Given the description of an element on the screen output the (x, y) to click on. 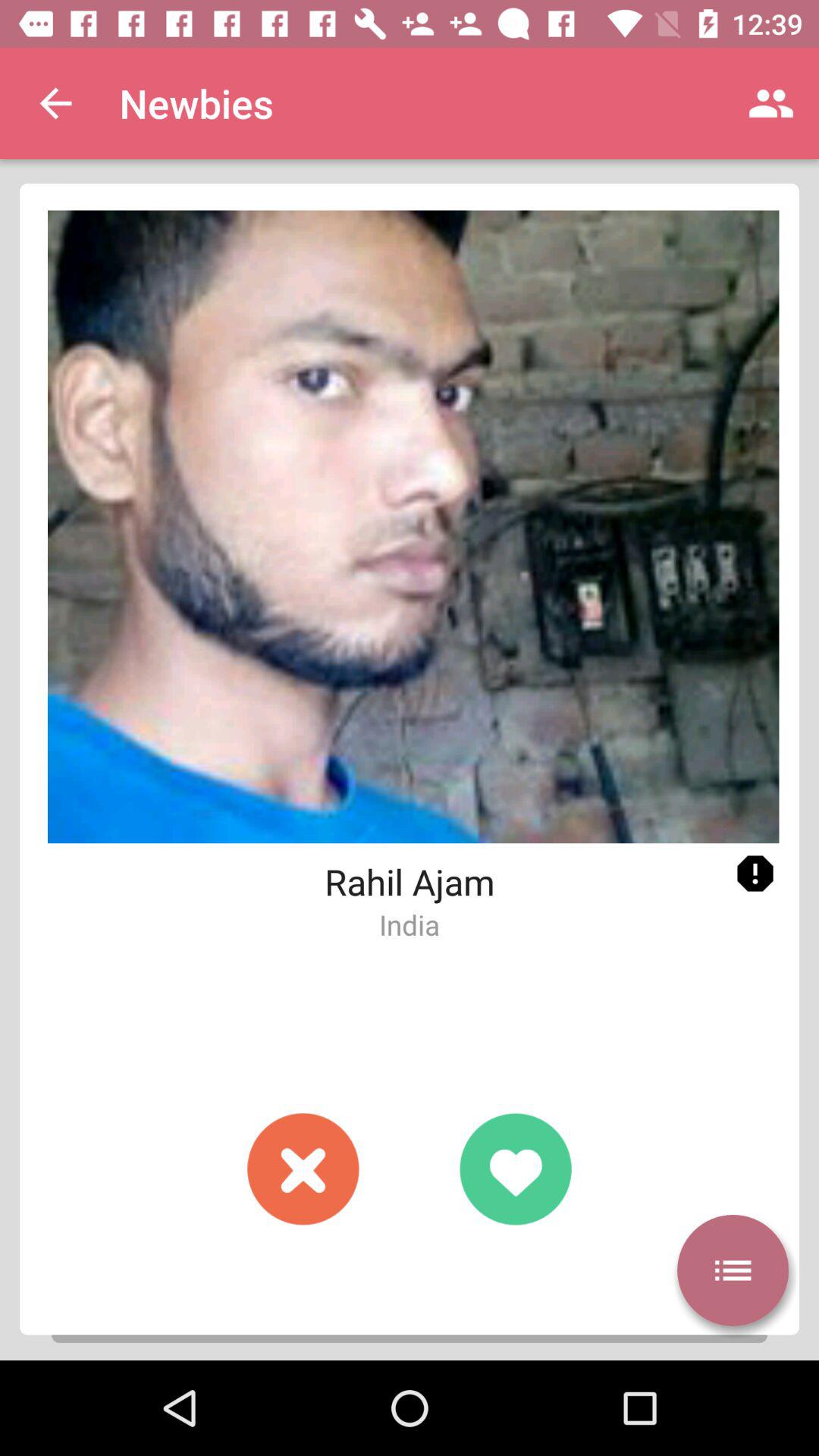
dismiss (303, 1169)
